Given the description of an element on the screen output the (x, y) to click on. 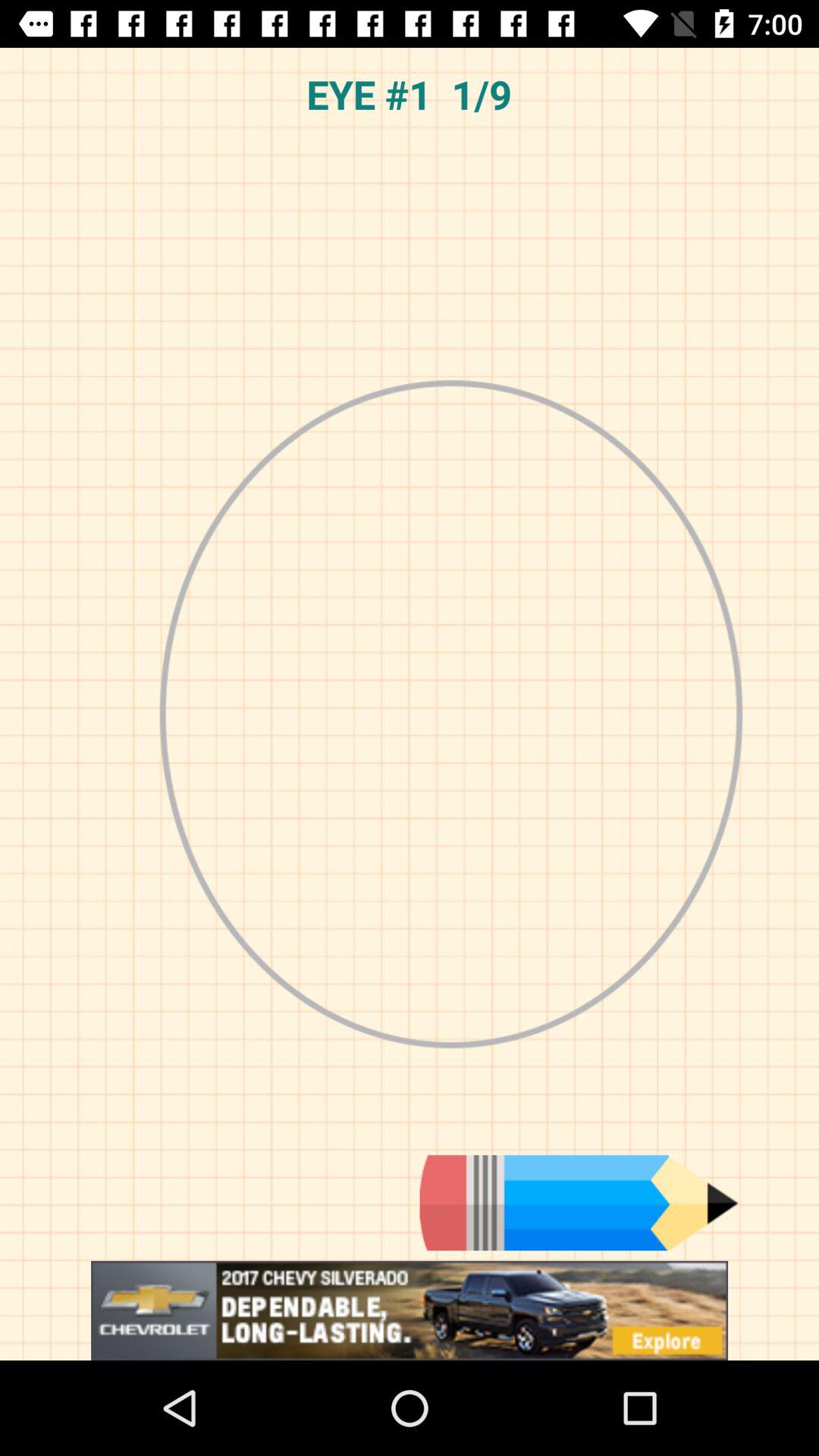
click on advertisement (409, 1310)
